Given the description of an element on the screen output the (x, y) to click on. 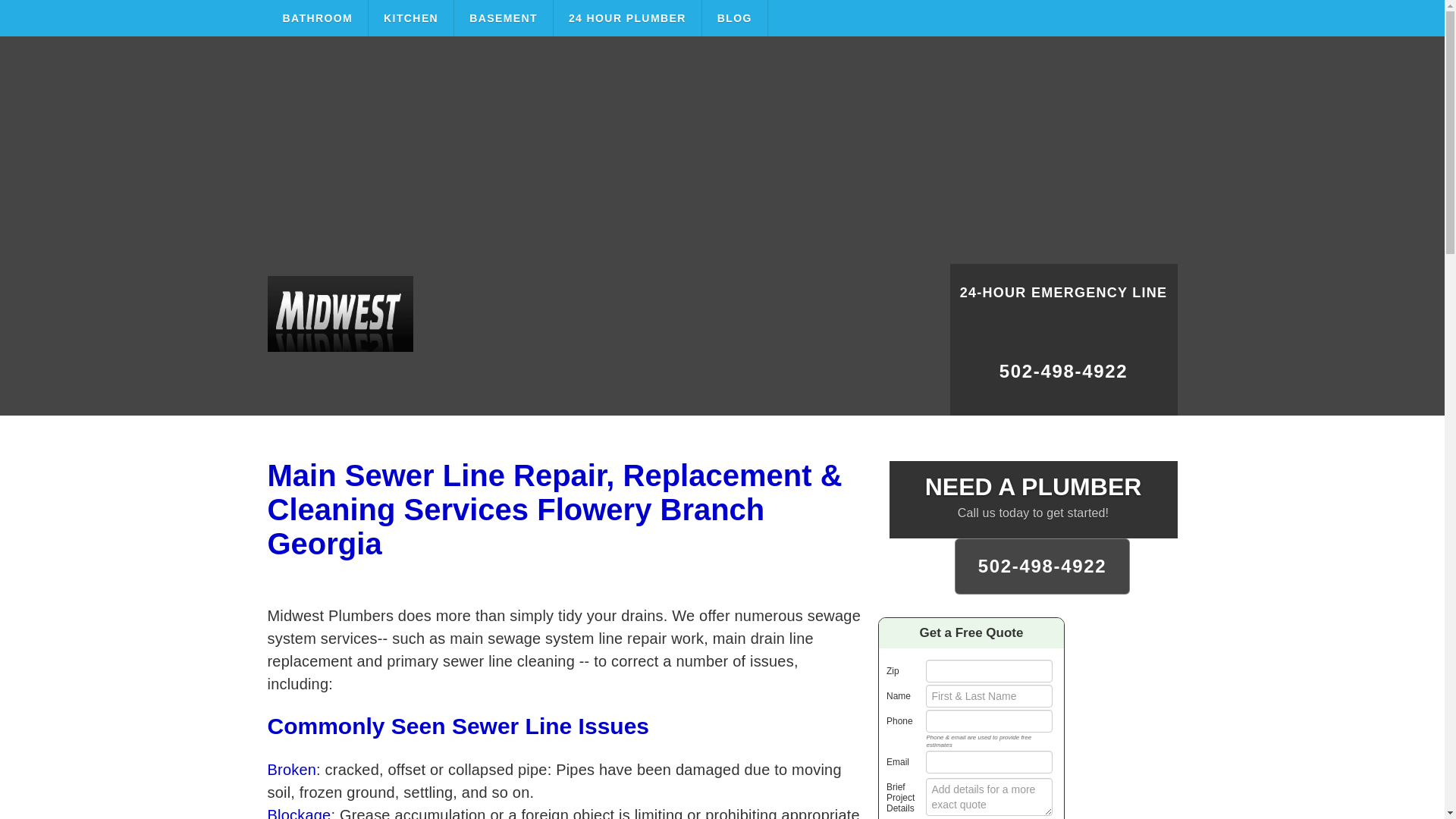
BATHROOM (317, 18)
502-498-4922 (1043, 566)
BASEMENT (503, 18)
24-HOUR EMERGENCY LINE (1062, 301)
24 HOUR PLUMBER (627, 18)
KITCHEN (411, 18)
502-498-4922 (1062, 377)
BLOG (734, 18)
